Given the description of an element on the screen output the (x, y) to click on. 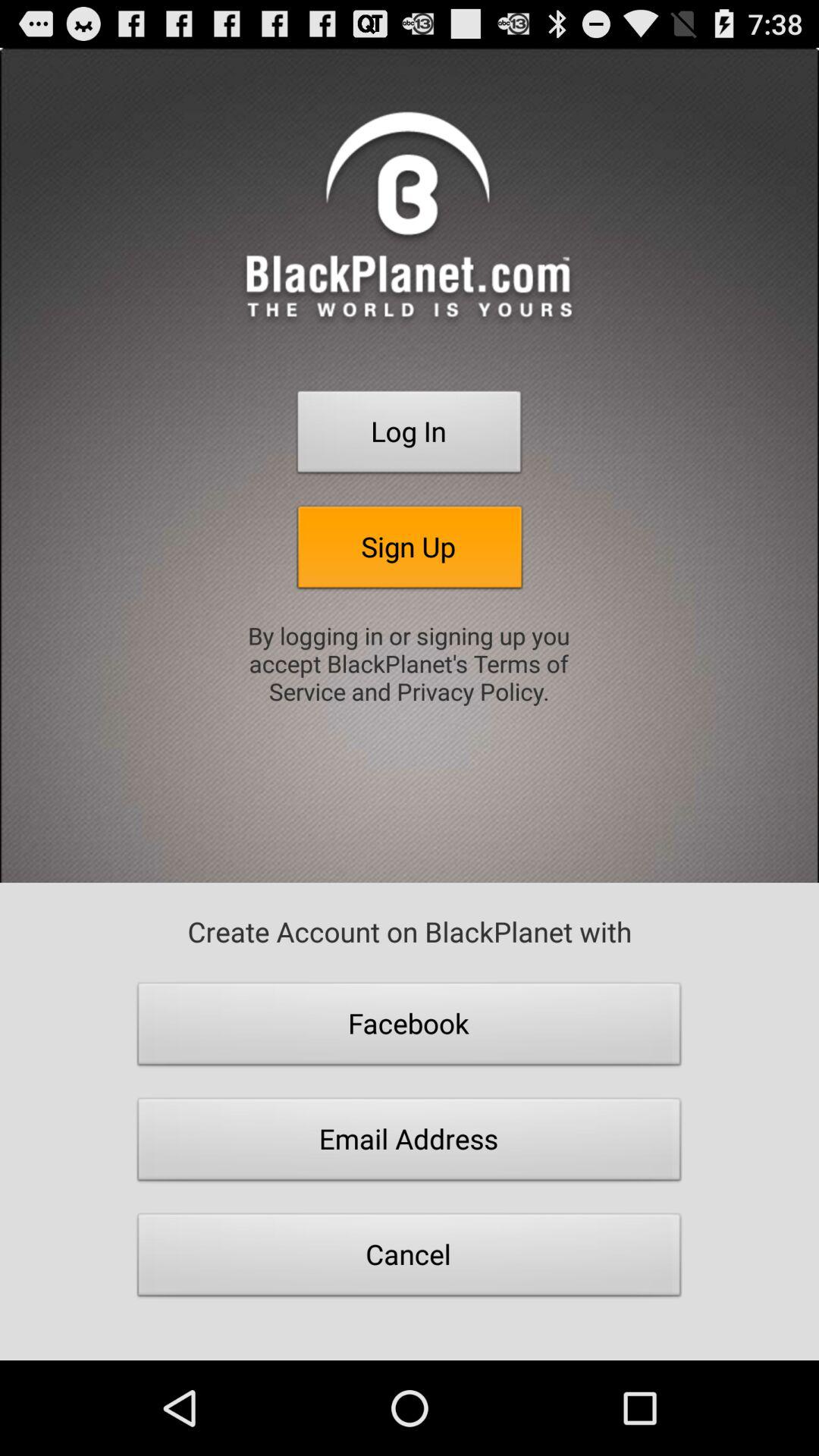
jump to the facebook button (409, 1028)
